Given the description of an element on the screen output the (x, y) to click on. 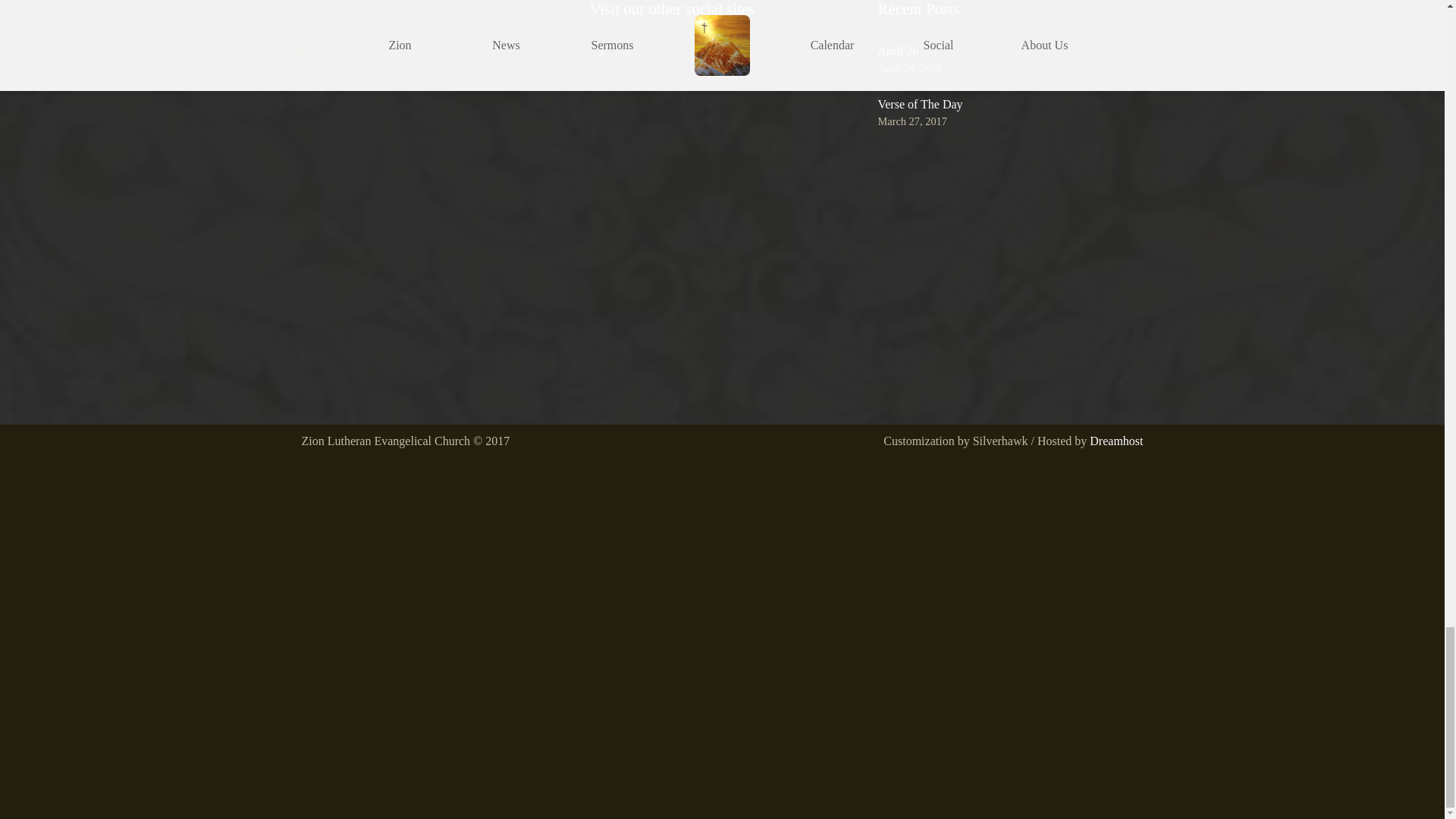
April 26 (897, 51)
Verse of The Day (919, 103)
Dreamhost (1115, 440)
